Given the description of an element on the screen output the (x, y) to click on. 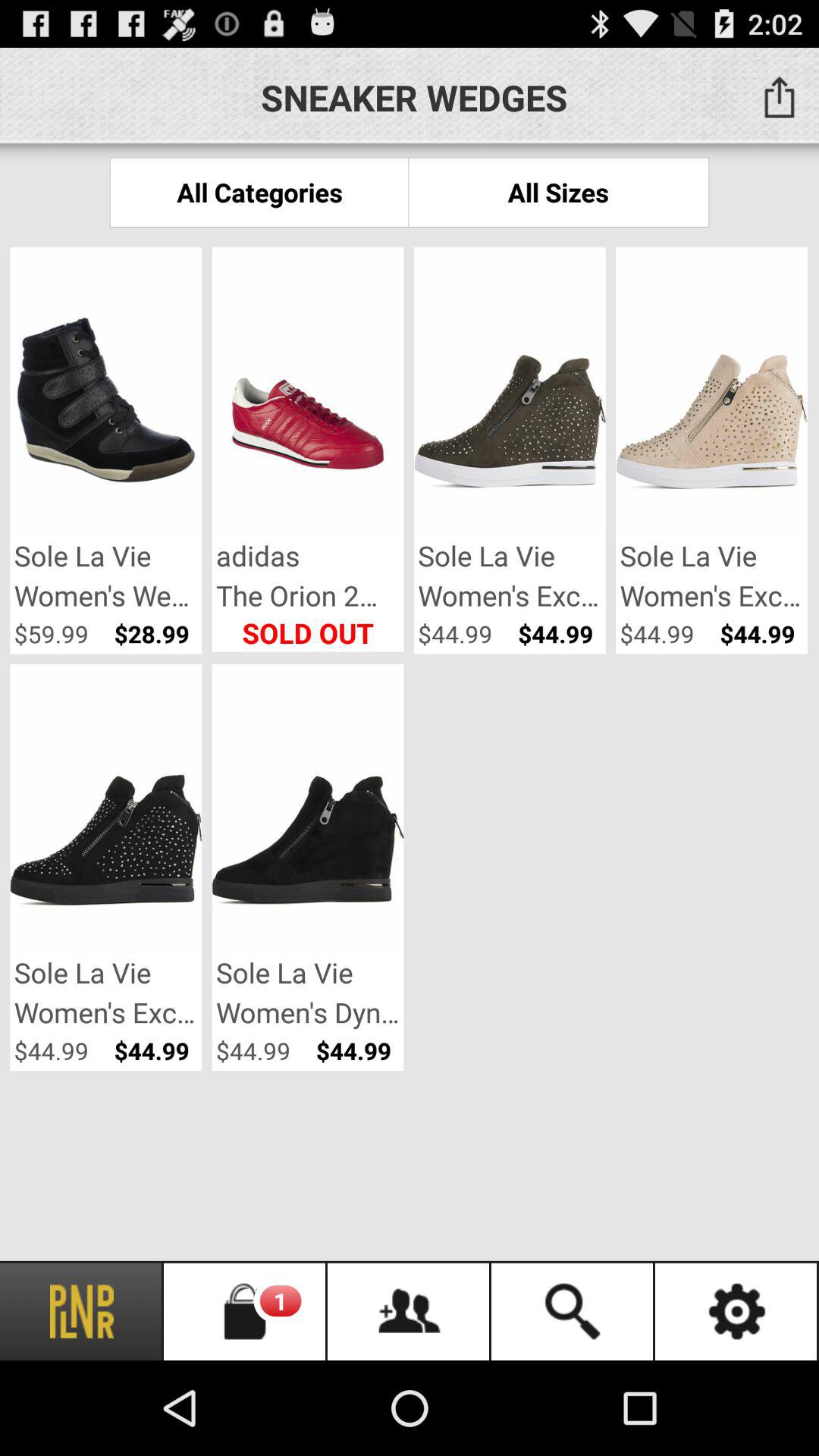
turn off item to the right of all categories app (558, 192)
